Given the description of an element on the screen output the (x, y) to click on. 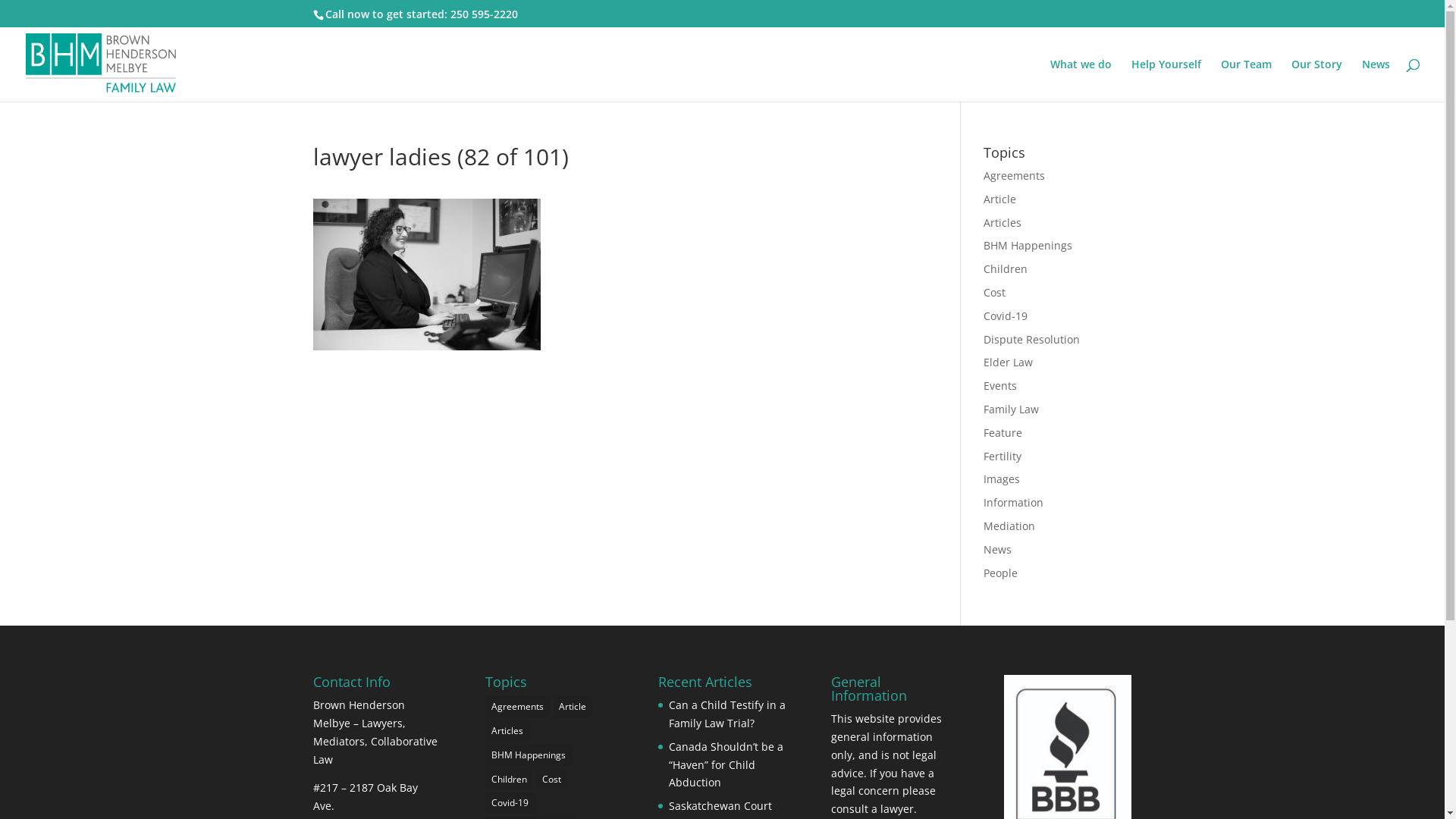
Cost Element type: text (994, 292)
Children Element type: text (509, 779)
Help Yourself Element type: text (1166, 80)
BHM Happenings Element type: text (1027, 245)
Our Team Element type: text (1245, 80)
Events Element type: text (999, 385)
Articles Element type: text (1002, 222)
BHM Happenings Element type: text (528, 754)
Can a Child Testify in a Family Law Trial? Element type: text (726, 713)
Agreements Element type: text (517, 706)
News Element type: text (1375, 80)
Mediation Element type: text (1009, 525)
Covid-19 Element type: text (509, 802)
Elder Law Element type: text (1007, 361)
Images Element type: text (1001, 478)
Cost Element type: text (551, 779)
News Element type: text (997, 549)
Articles Element type: text (507, 730)
Dispute Resolution Element type: text (1031, 339)
Fertility Element type: text (1002, 455)
Covid-19 Element type: text (1005, 315)
Feature Element type: text (1002, 432)
Information Element type: text (1013, 502)
People Element type: text (1000, 572)
Agreements Element type: text (1013, 175)
Family Law Element type: text (1010, 408)
What we do Element type: text (1080, 80)
Article Element type: text (999, 198)
Article Element type: text (572, 706)
Children Element type: text (1005, 268)
Our Story Element type: text (1316, 80)
